Given the description of an element on the screen output the (x, y) to click on. 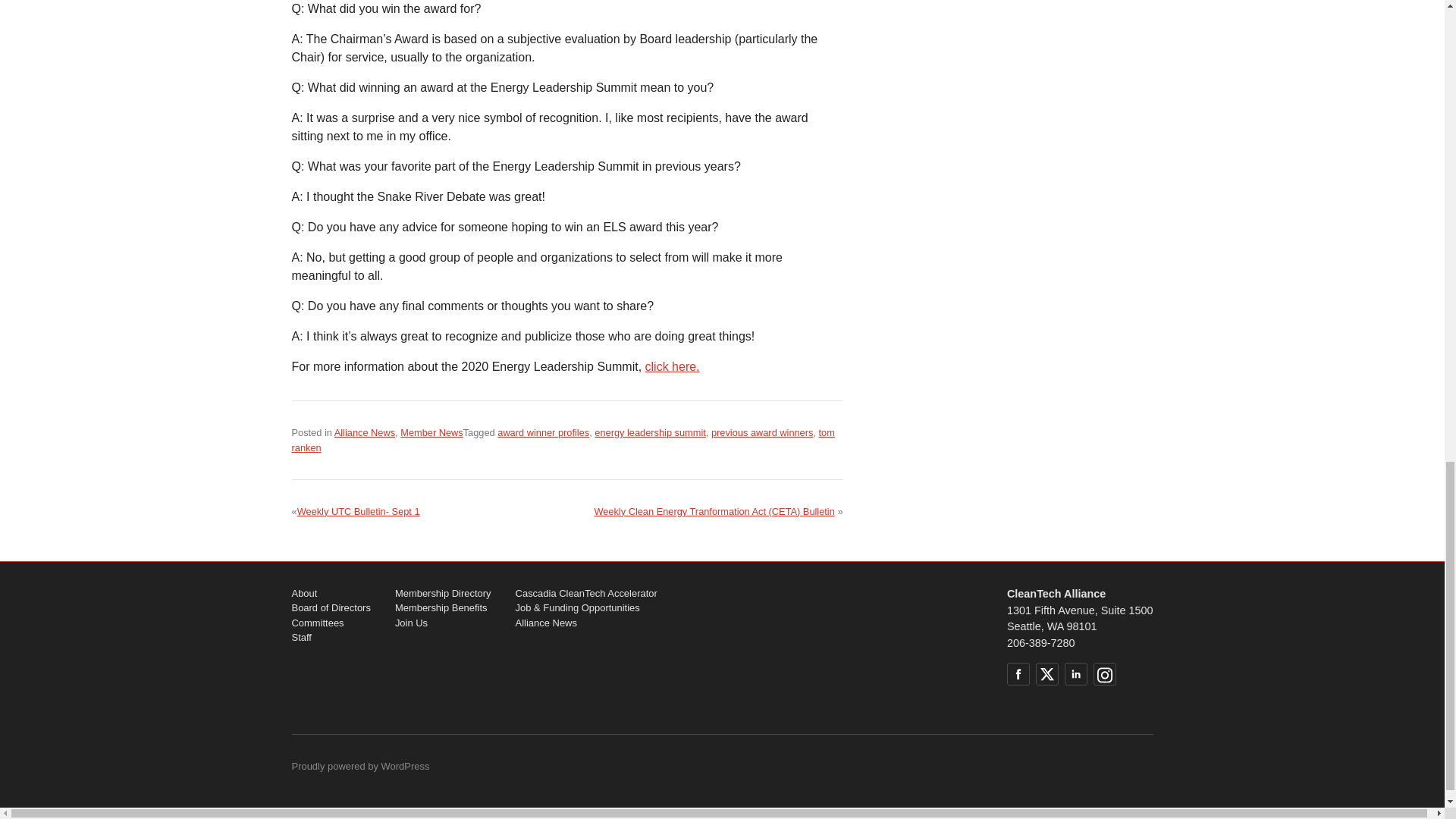
Visit CleanTech Alliance on Twitter (1046, 673)
Visit CleanTech Alliance on Facebook (1018, 673)
Vist CleanTech Alliance on Instagram (1104, 673)
Vist CleanTech Alliance on LinkedIn (1075, 673)
